Given the description of an element on the screen output the (x, y) to click on. 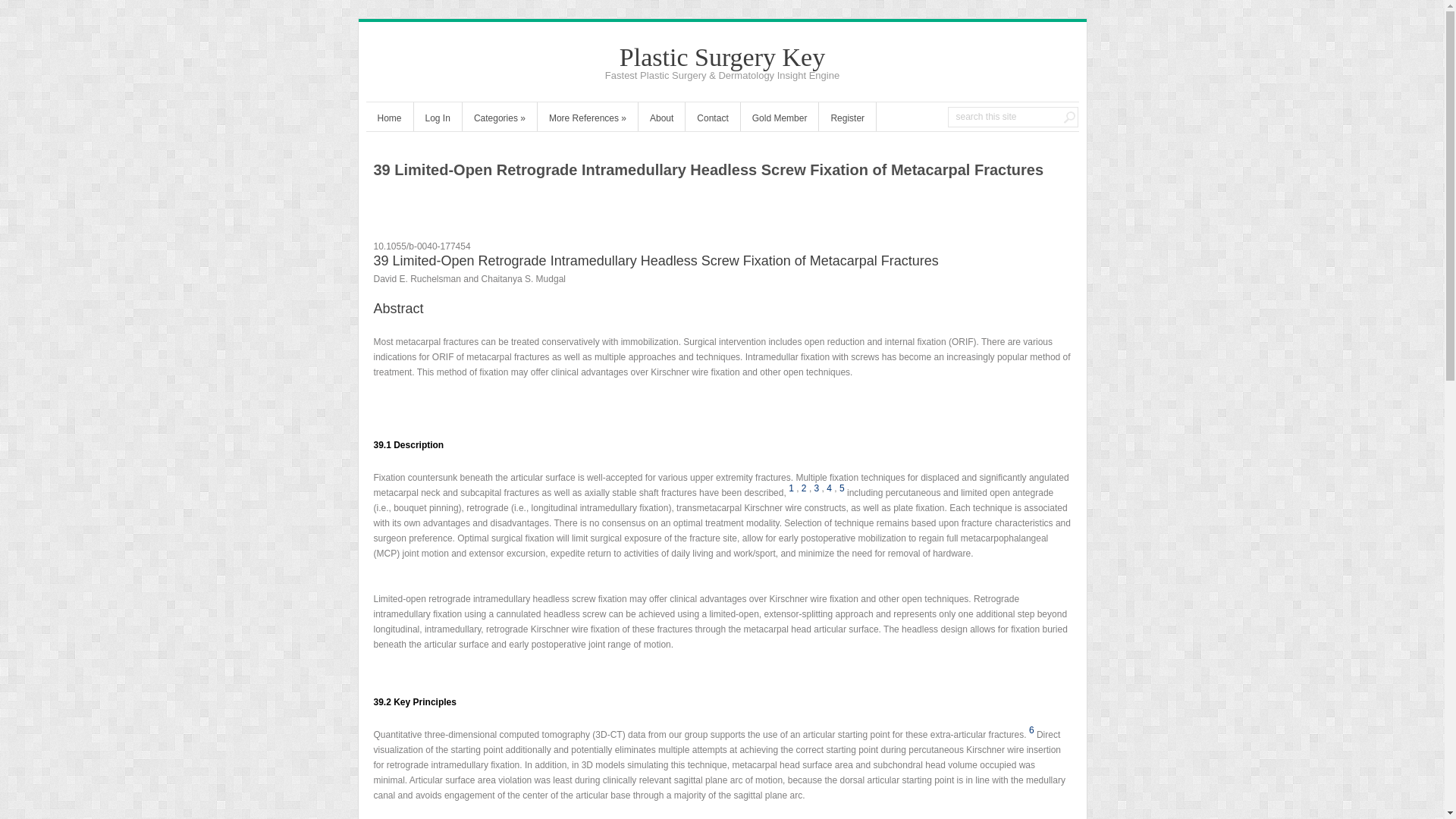
About (661, 119)
Plastic Surgery Key (722, 57)
Contact (712, 119)
Register (847, 119)
Home (388, 119)
Gold Member (779, 119)
Plastic Surgery Key (722, 57)
Log In (437, 119)
